Given the description of an element on the screen output the (x, y) to click on. 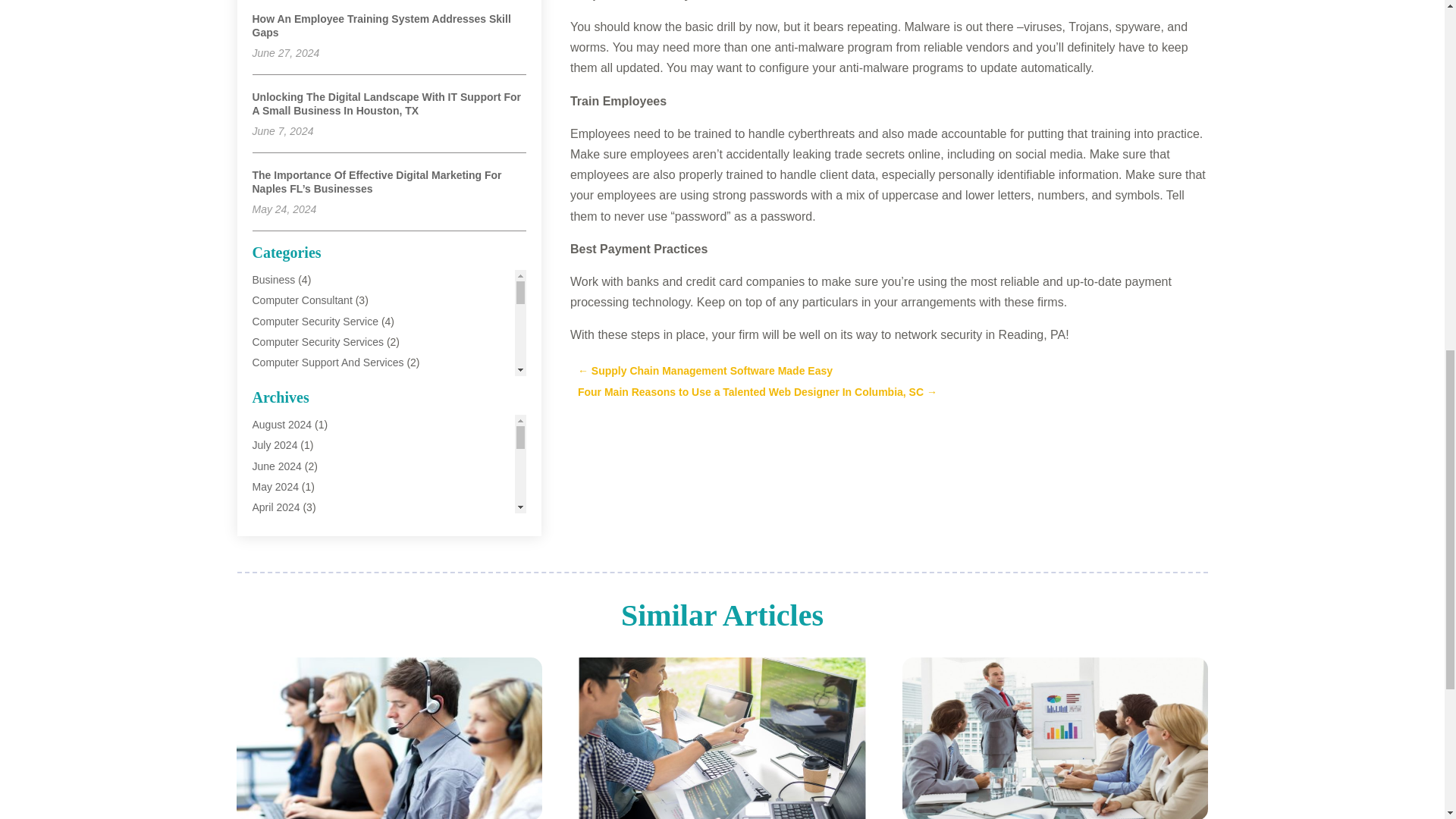
Computer Support And Services (327, 362)
Web Development Software (317, 671)
Supply Chain Management (315, 609)
Software Development (305, 589)
Business (273, 279)
Web Hosting (282, 692)
Internet Marketing Service (313, 485)
Internet Marketing (294, 465)
Computer Security Services (317, 341)
